Given the description of an element on the screen output the (x, y) to click on. 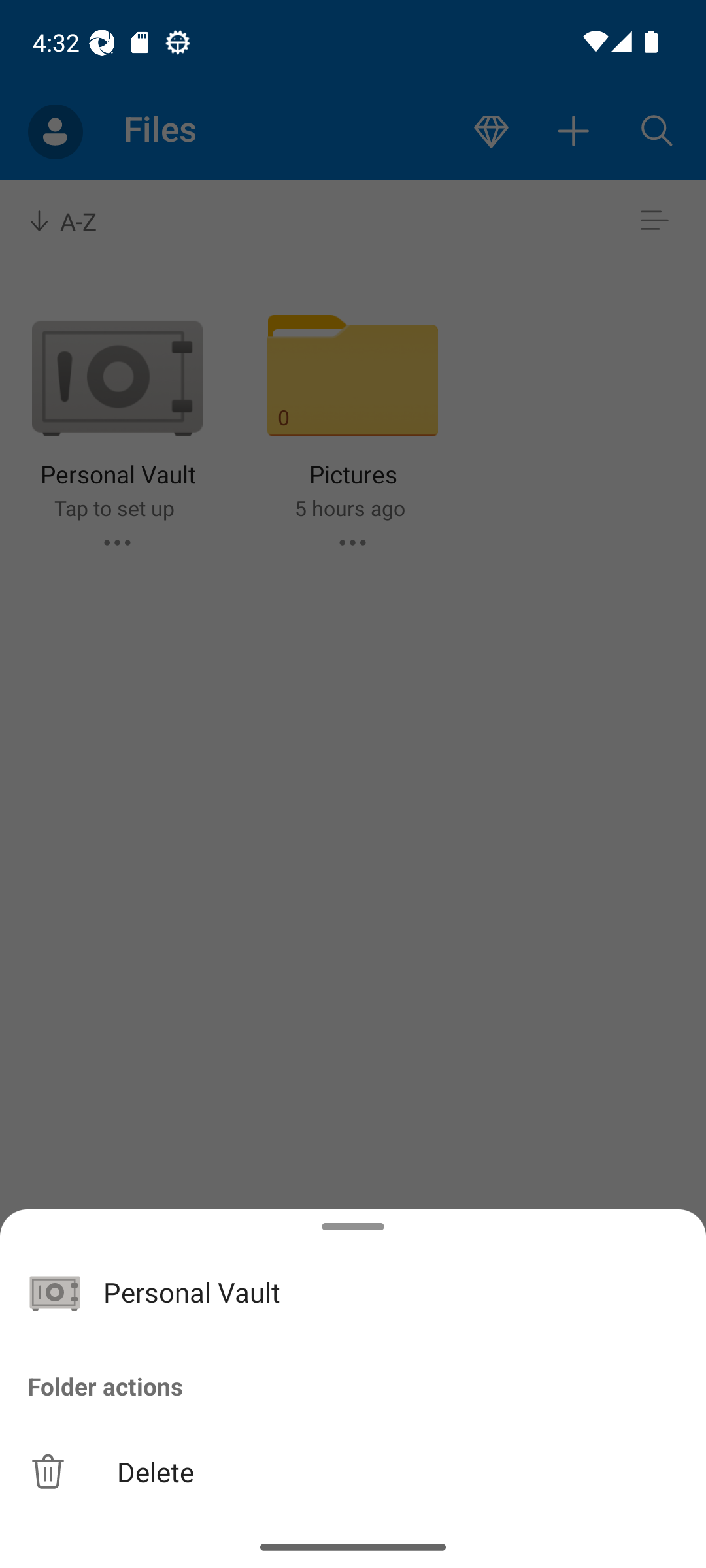
Delete button Delete (353, 1471)
